Given the description of an element on the screen output the (x, y) to click on. 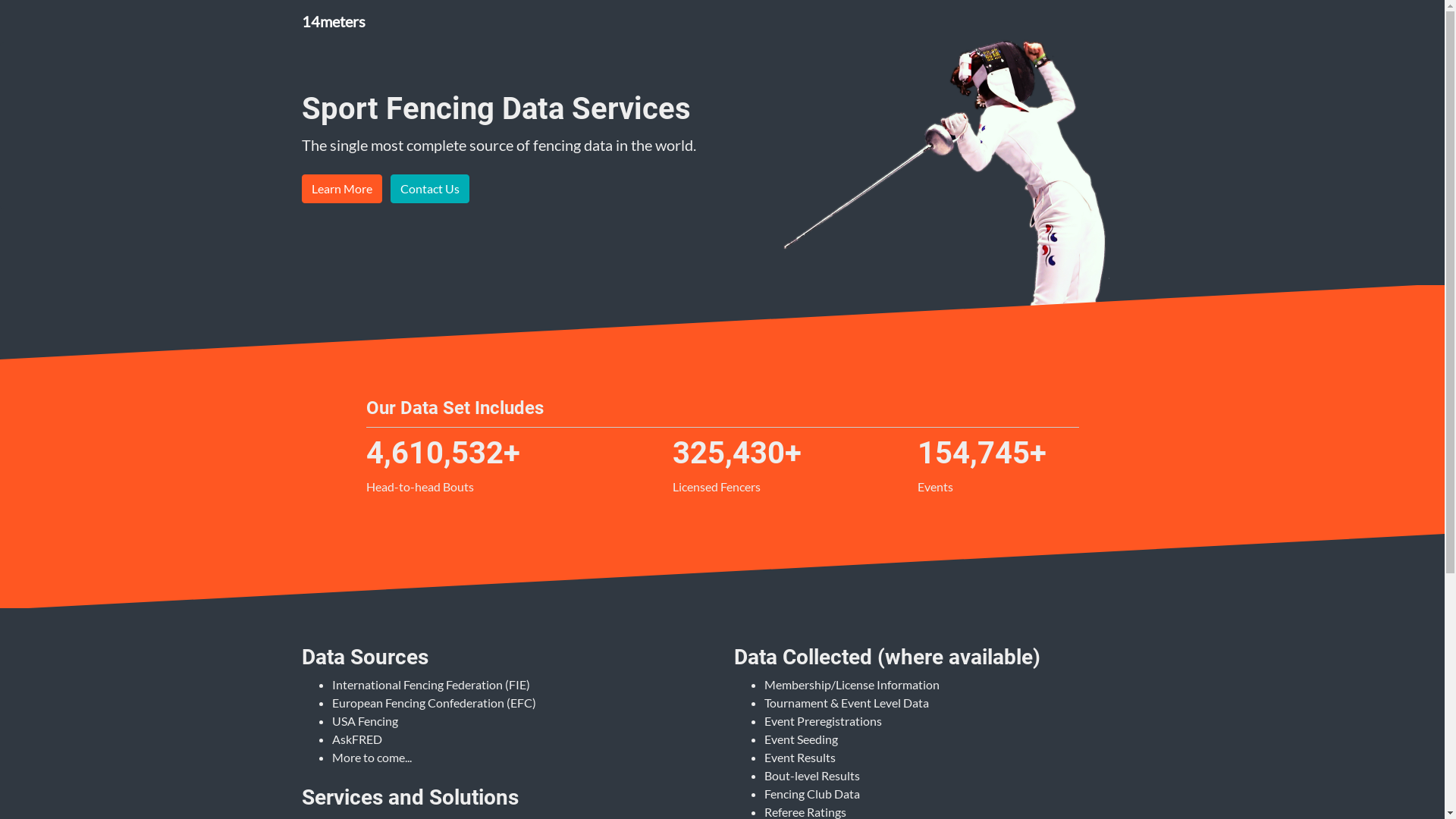
Learn More Element type: text (341, 188)
Contact Us Element type: text (428, 188)
14meters Element type: text (333, 21)
